Given the description of an element on the screen output the (x, y) to click on. 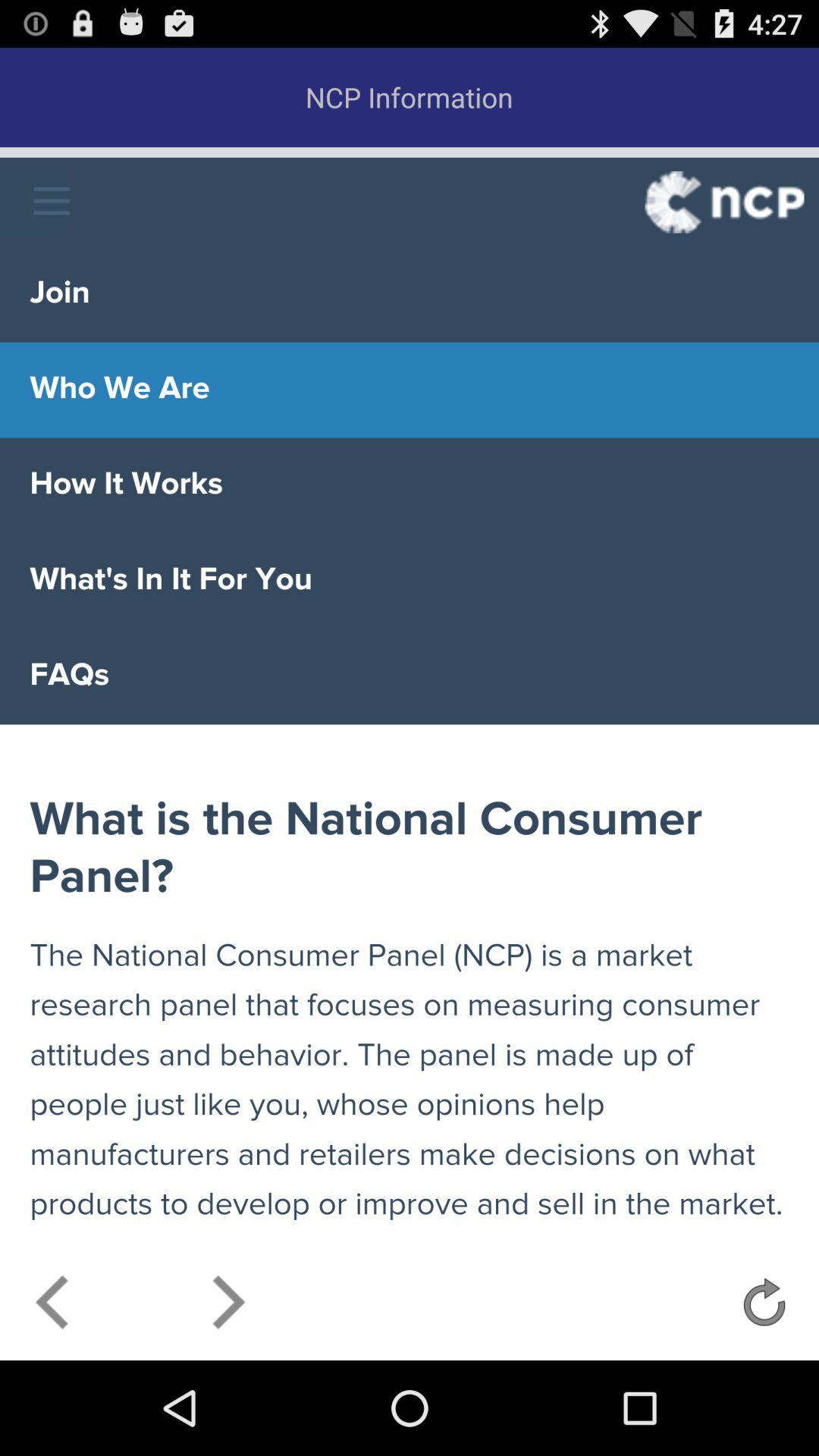
go back option (53, 1306)
